Given the description of an element on the screen output the (x, y) to click on. 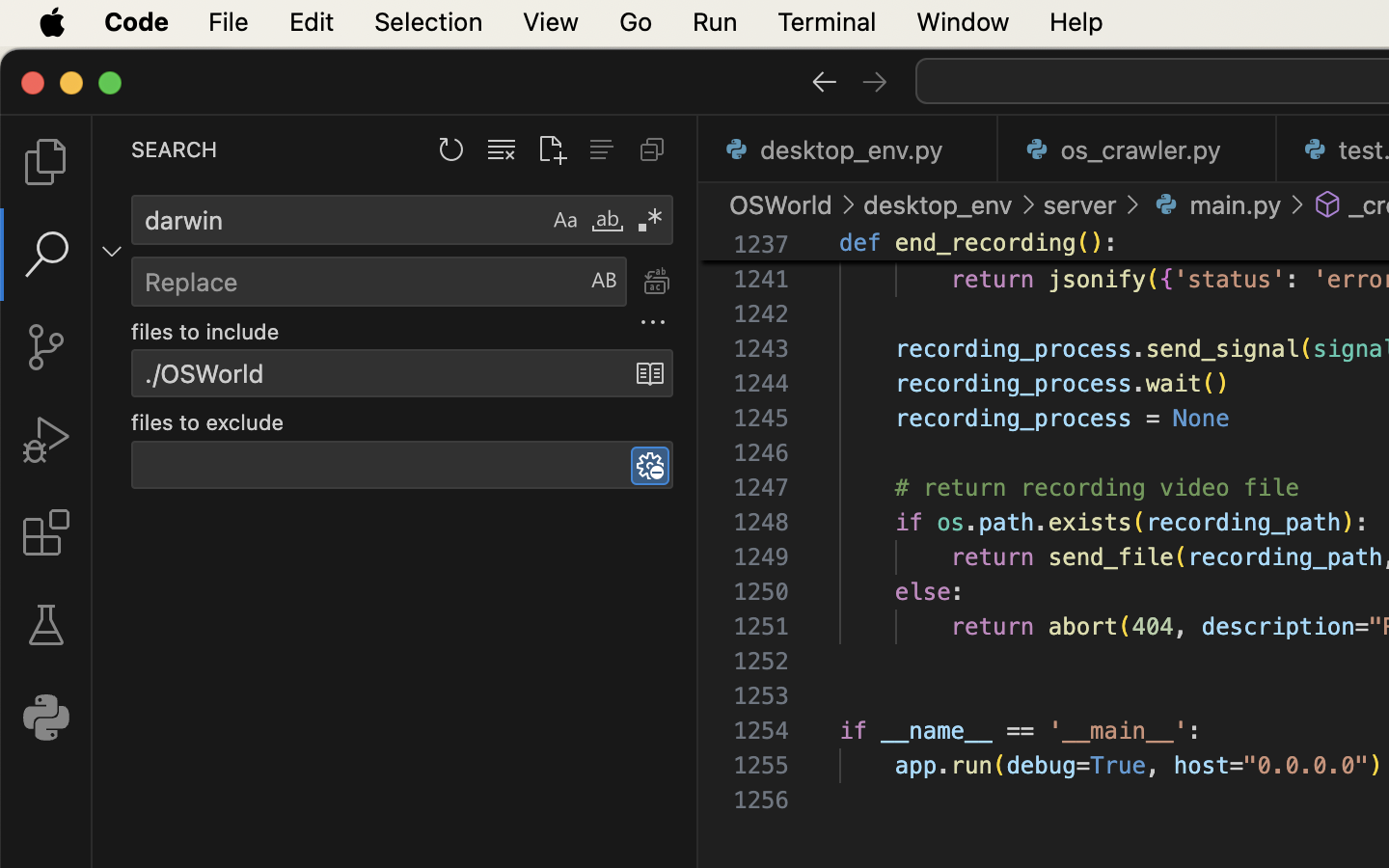
0 Element type: AXRadioButton (46, 717)
end_recording Element type: AXStaticText (985, 242)
 Element type: AXButton (874, 80)
 Element type: AXStaticText (111, 250)
 Element type: AXButton (824, 80)
